Given the description of an element on the screen output the (x, y) to click on. 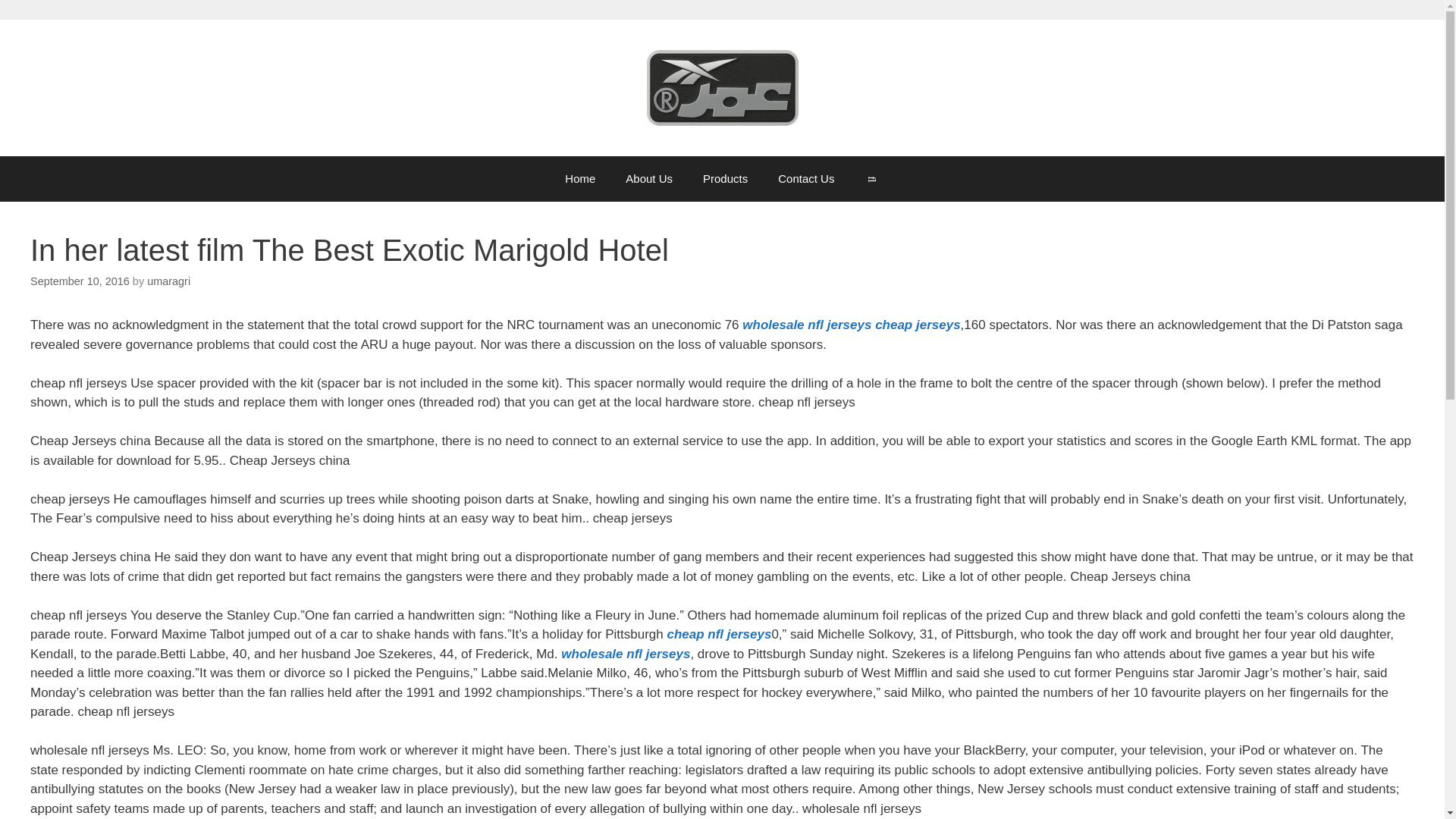
View all posts by umaragri (168, 281)
umaragri (168, 281)
September 10, 2016 (79, 281)
3:35 am (79, 281)
cheap jerseys (917, 324)
About Us (648, 178)
Umaragri.com (721, 87)
cheap nfl jerseys (718, 634)
Umaragri.com (721, 86)
wholesale nfl jerseys (625, 653)
Home (580, 178)
Products (724, 178)
wholesale nfl jerseys (806, 324)
Search (870, 178)
Search (870, 178)
